Given the description of an element on the screen output the (x, y) to click on. 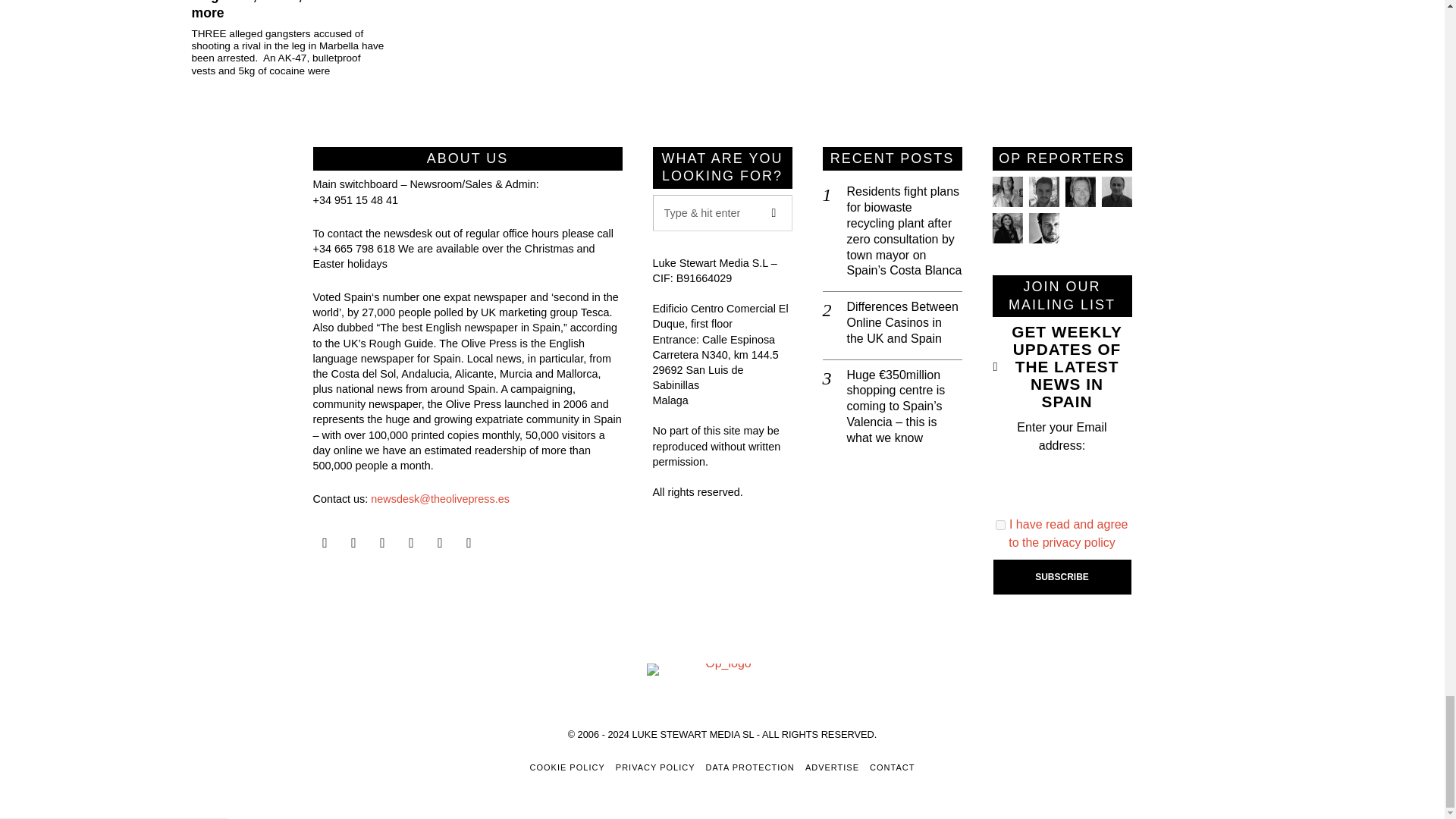
Go (773, 212)
1 (1000, 524)
Laurence Dollimore (1042, 191)
Dilip Kuner (1115, 191)
Alex Trelinski (1079, 191)
SUBSCRIBE (1061, 576)
